Given the description of an element on the screen output the (x, y) to click on. 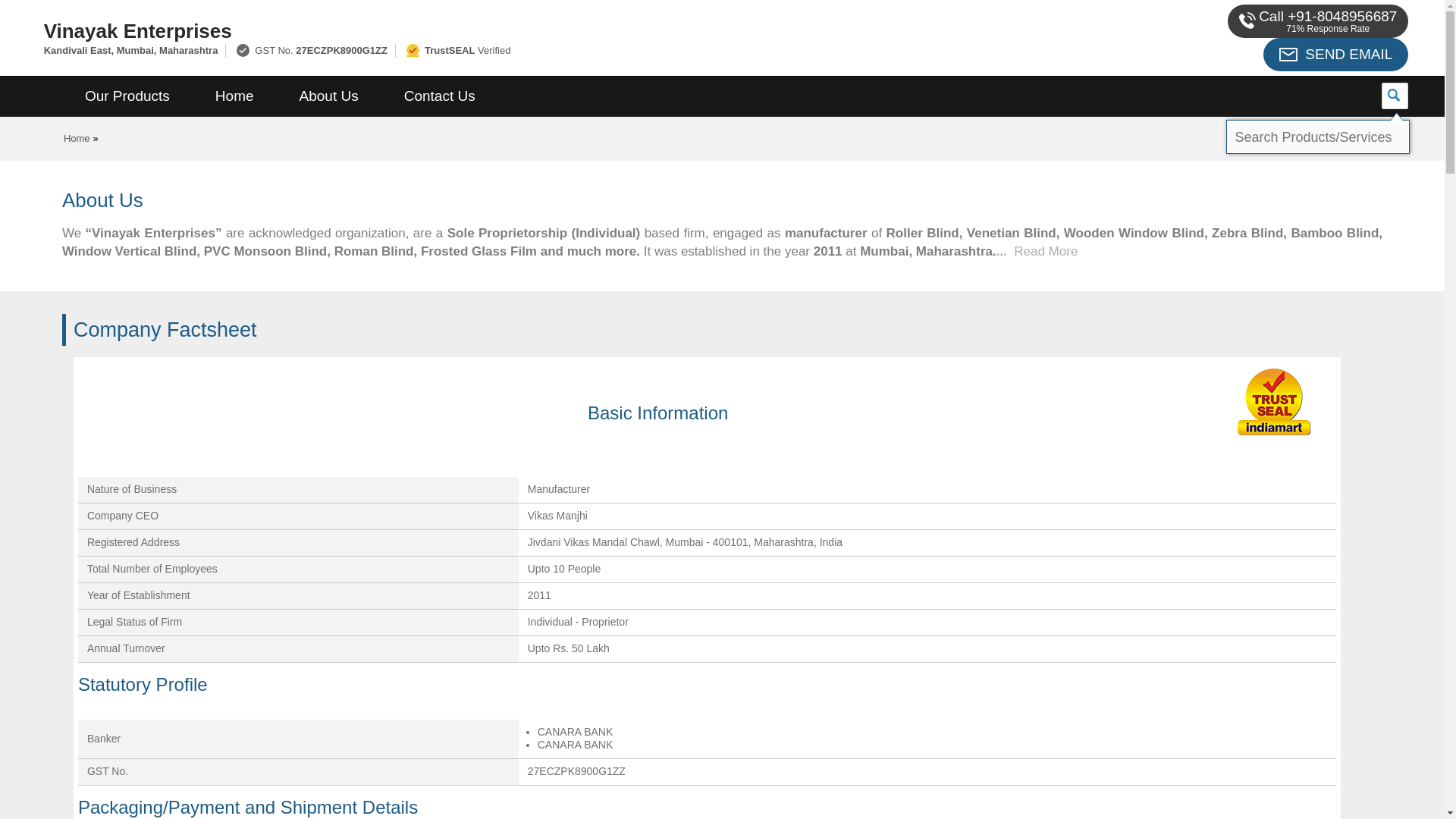
Vinayak Enterprises (480, 31)
Contact Us (439, 96)
Our Products (127, 96)
About Us (328, 96)
Home (77, 138)
Home (234, 96)
